Given the description of an element on the screen output the (x, y) to click on. 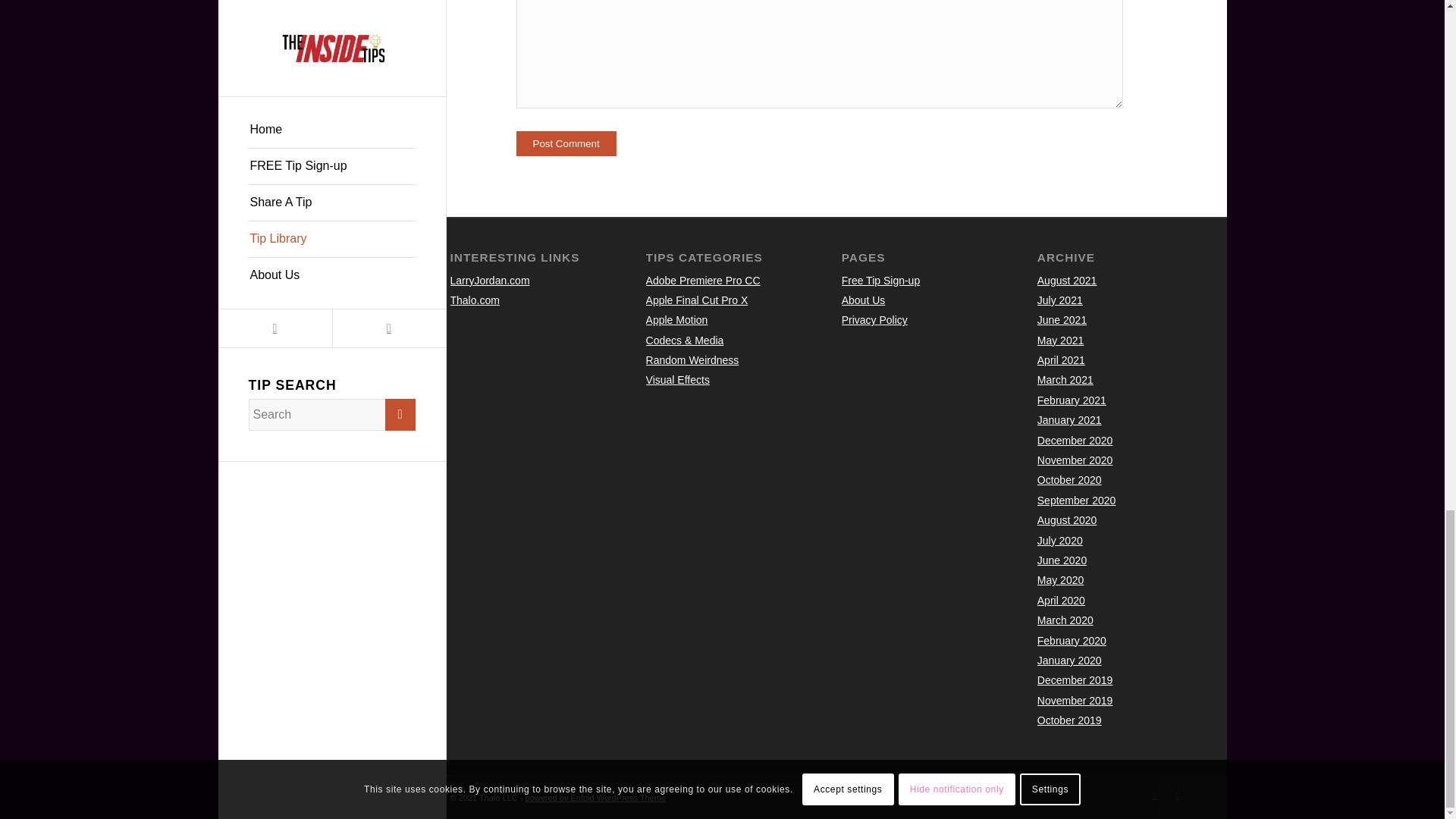
Apple Motion (676, 319)
Post Comment (565, 143)
Thalo.com (474, 300)
Adobe Premiere Pro CC (703, 280)
LarryJordan.com (489, 280)
Post Comment (565, 143)
Apple Final Cut Pro X (697, 300)
